Given the description of an element on the screen output the (x, y) to click on. 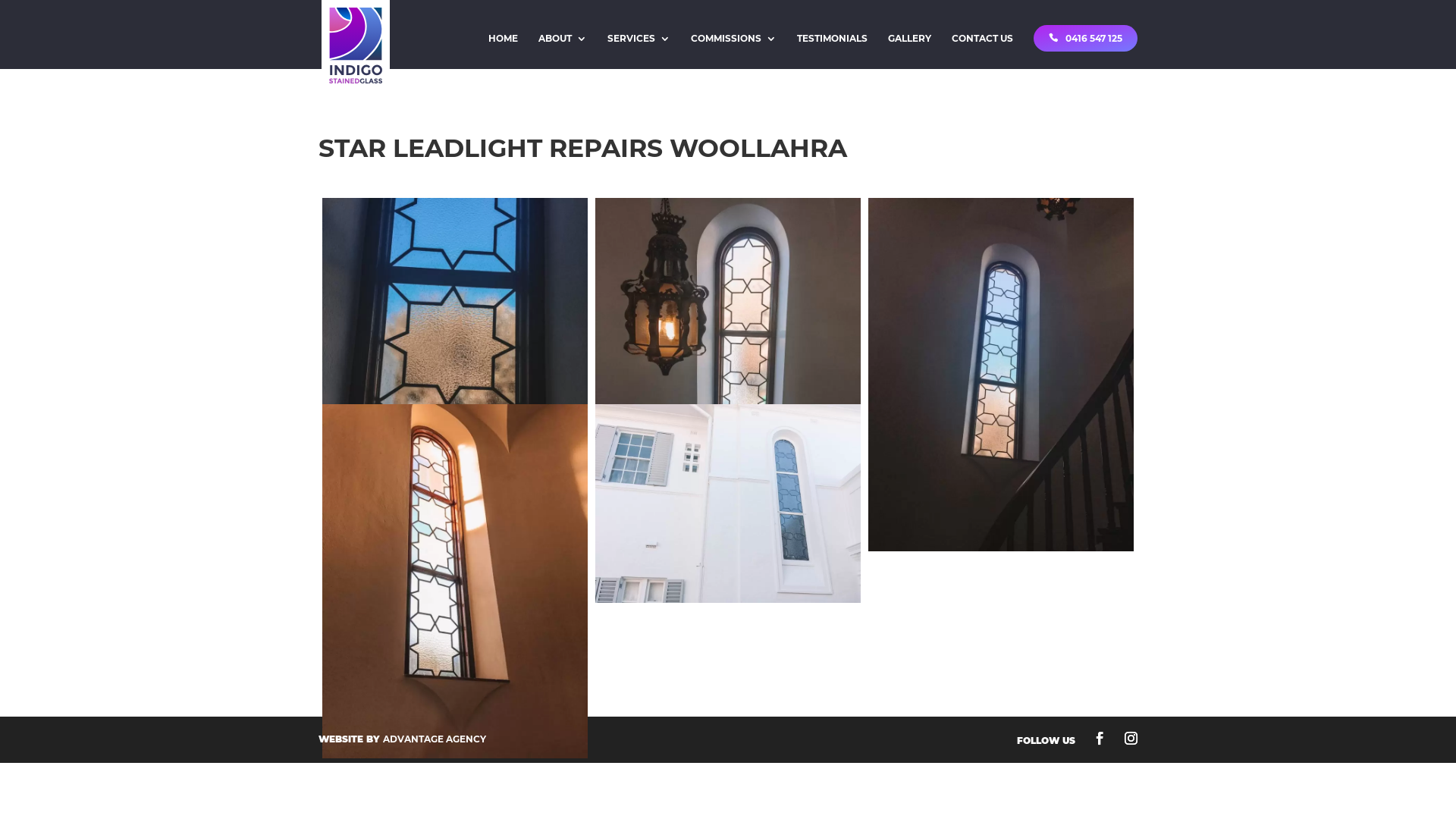
COMMISSIONS Element type: text (733, 51)
0416 547 125 Element type: text (1085, 38)
CONTACT US Element type: text (982, 51)
ABOUT Element type: text (562, 51)
TESTIMONIALS Element type: text (832, 51)
HOME Element type: text (502, 51)
Star leadlight repair Woollahra Sydney-indigo-stained-glass Element type: hover (454, 581)
ADVANTAGE AGENCY Element type: text (434, 738)
SERVICES Element type: text (638, 51)
GALLERY Element type: text (909, 51)
